Given the description of an element on the screen output the (x, y) to click on. 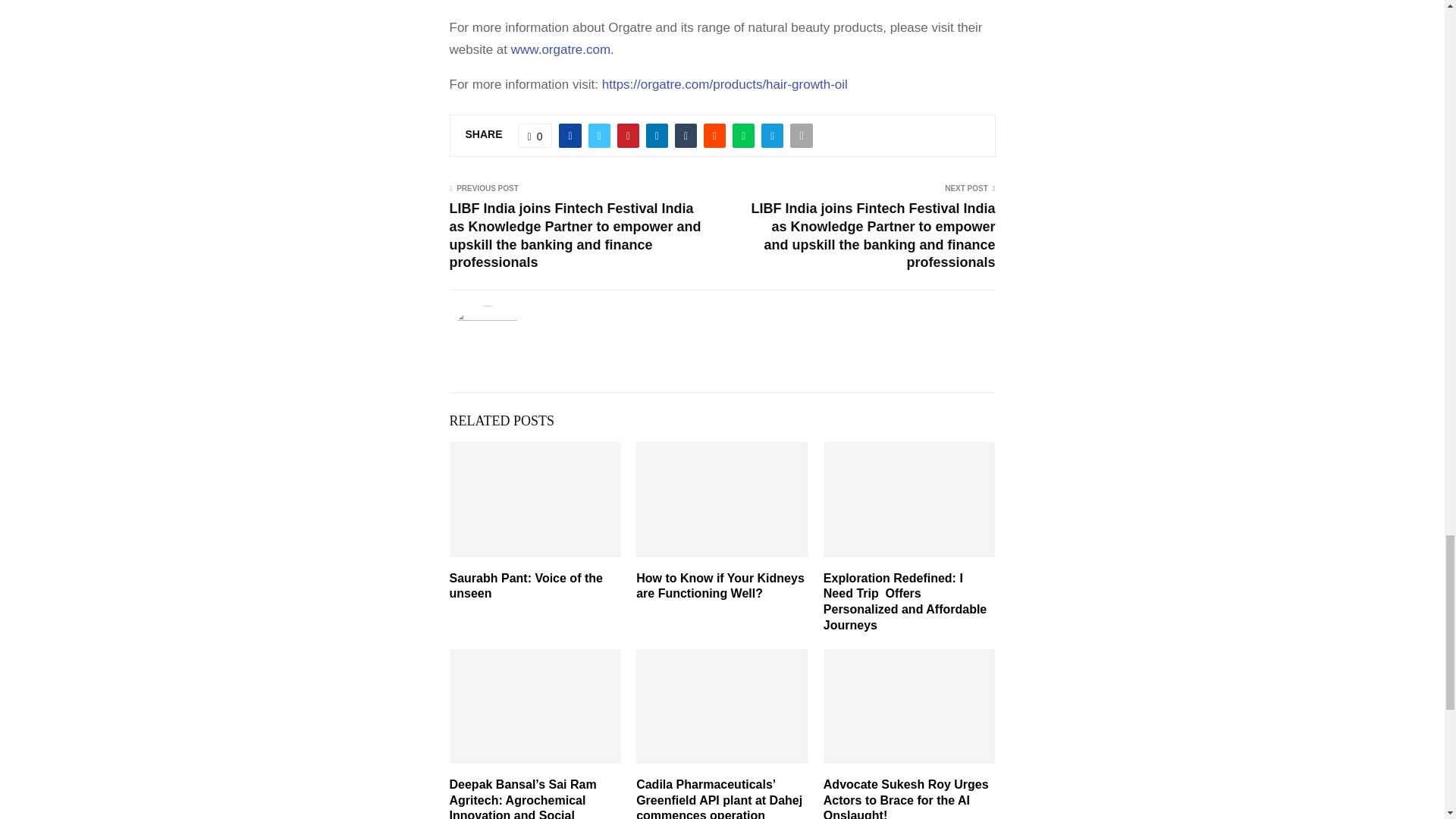
Like (535, 135)
